Given the description of an element on the screen output the (x, y) to click on. 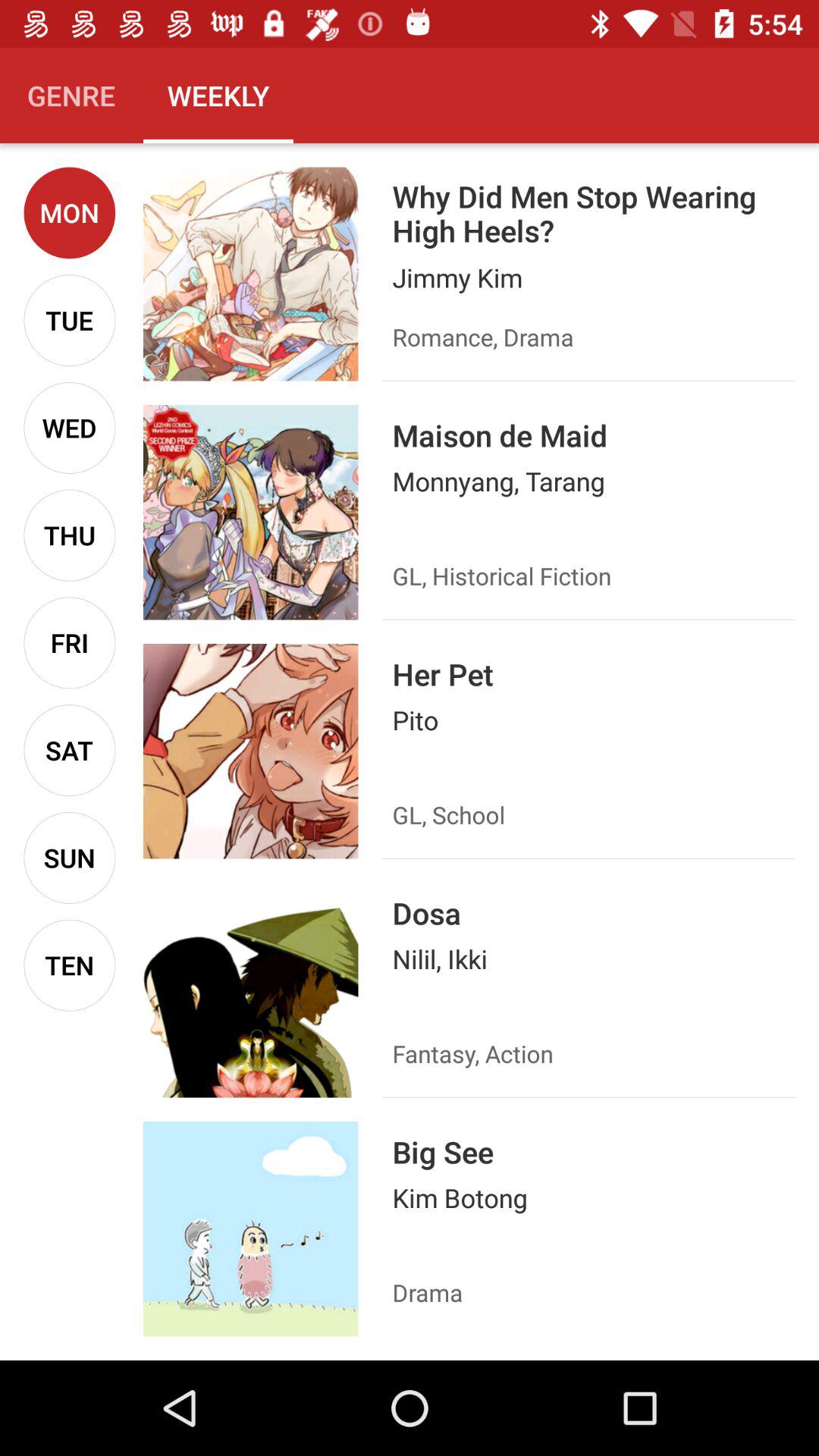
launch icon below genre (69, 212)
